Given the description of an element on the screen output the (x, y) to click on. 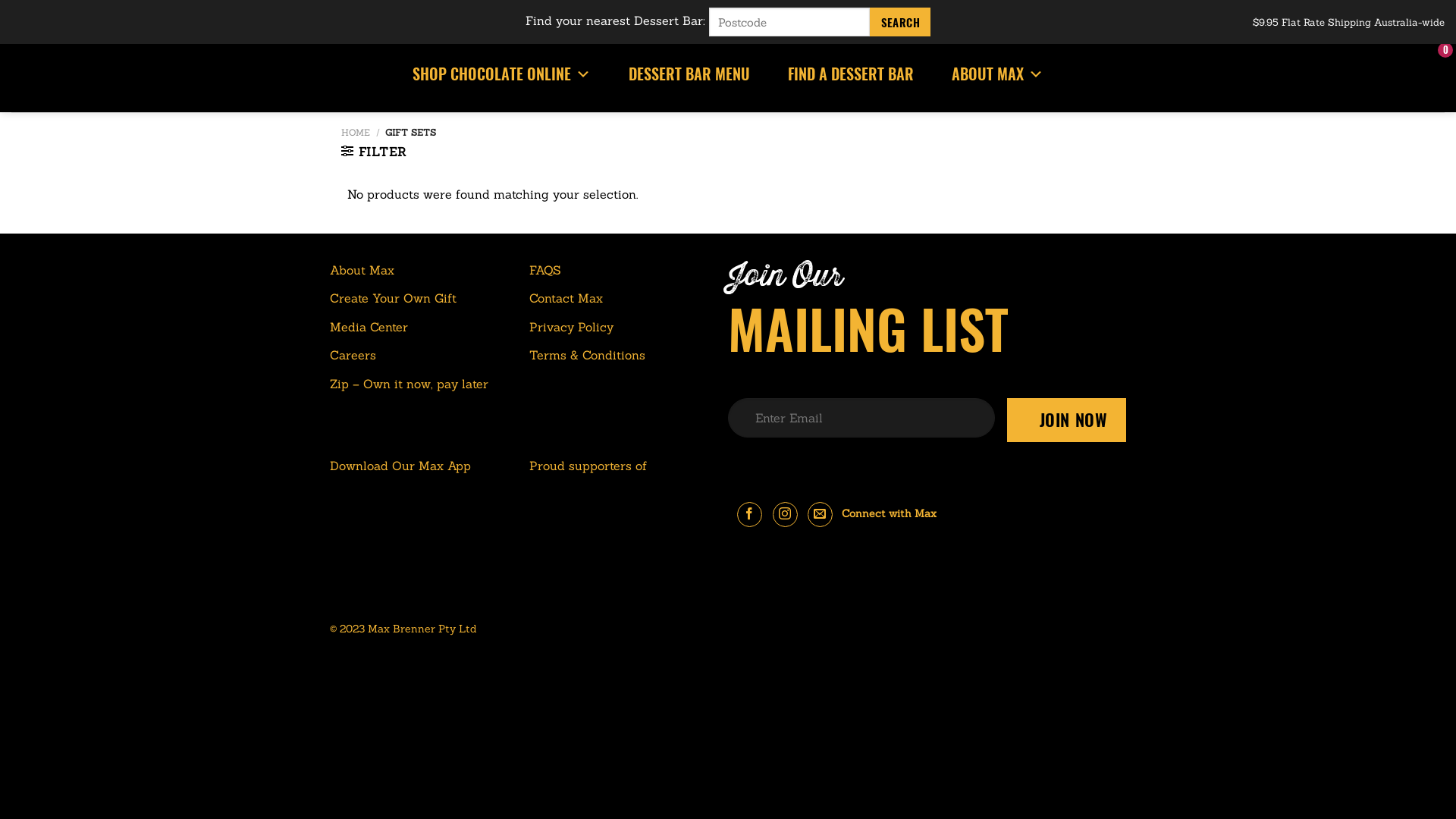
Create Your Own Gift Element type: text (392, 298)
DESSERT BAR MENU Element type: text (688, 74)
HOME Element type: text (355, 132)
Careers Element type: text (352, 355)
Terms & Conditions Element type: text (587, 355)
Follow on Instagram Element type: hover (784, 514)
Privacy Policy Element type: text (571, 327)
Send us an email Element type: hover (819, 514)
FIND A DESSERT BAR Element type: text (850, 74)
FILTER Element type: text (373, 151)
0 Element type: text (1431, 74)
Skip to content Element type: text (0, 0)
ABOUT MAX Element type: text (997, 74)
FAQS Element type: text (545, 270)
Join Now Element type: text (1066, 420)
Follow on Facebook Element type: hover (749, 514)
SEARCH Element type: text (899, 21)
Media Center Element type: text (368, 327)
SHOP CHOCOLATE ONLINE Element type: text (501, 74)
About Max Element type: text (361, 270)
Contact Max Element type: text (565, 298)
